Given the description of an element on the screen output the (x, y) to click on. 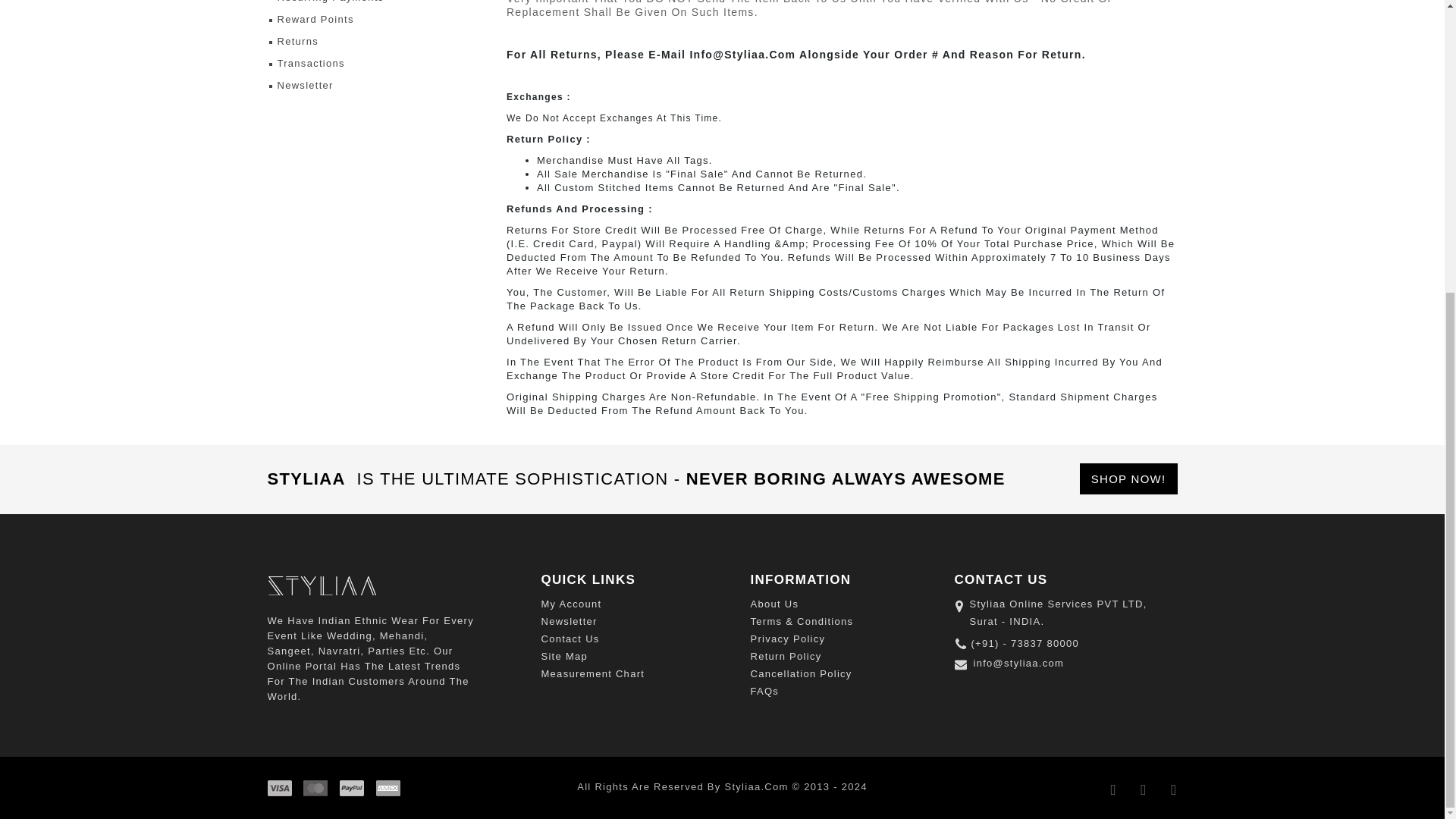
Purchase (1128, 478)
